Given the description of an element on the screen output the (x, y) to click on. 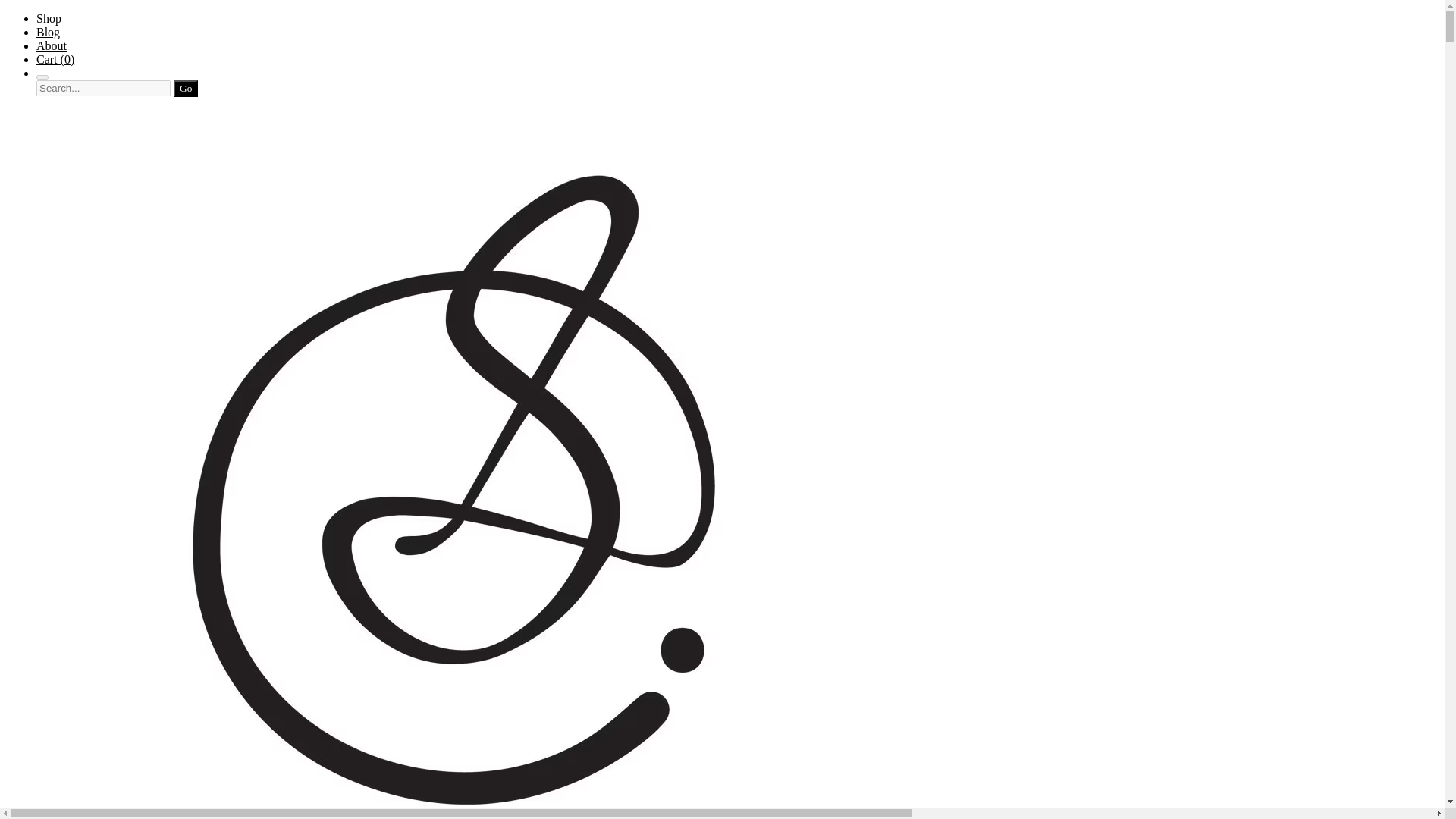
Go (185, 88)
Blog (47, 31)
Go (185, 88)
About (51, 45)
Shop (48, 18)
